Given the description of an element on the screen output the (x, y) to click on. 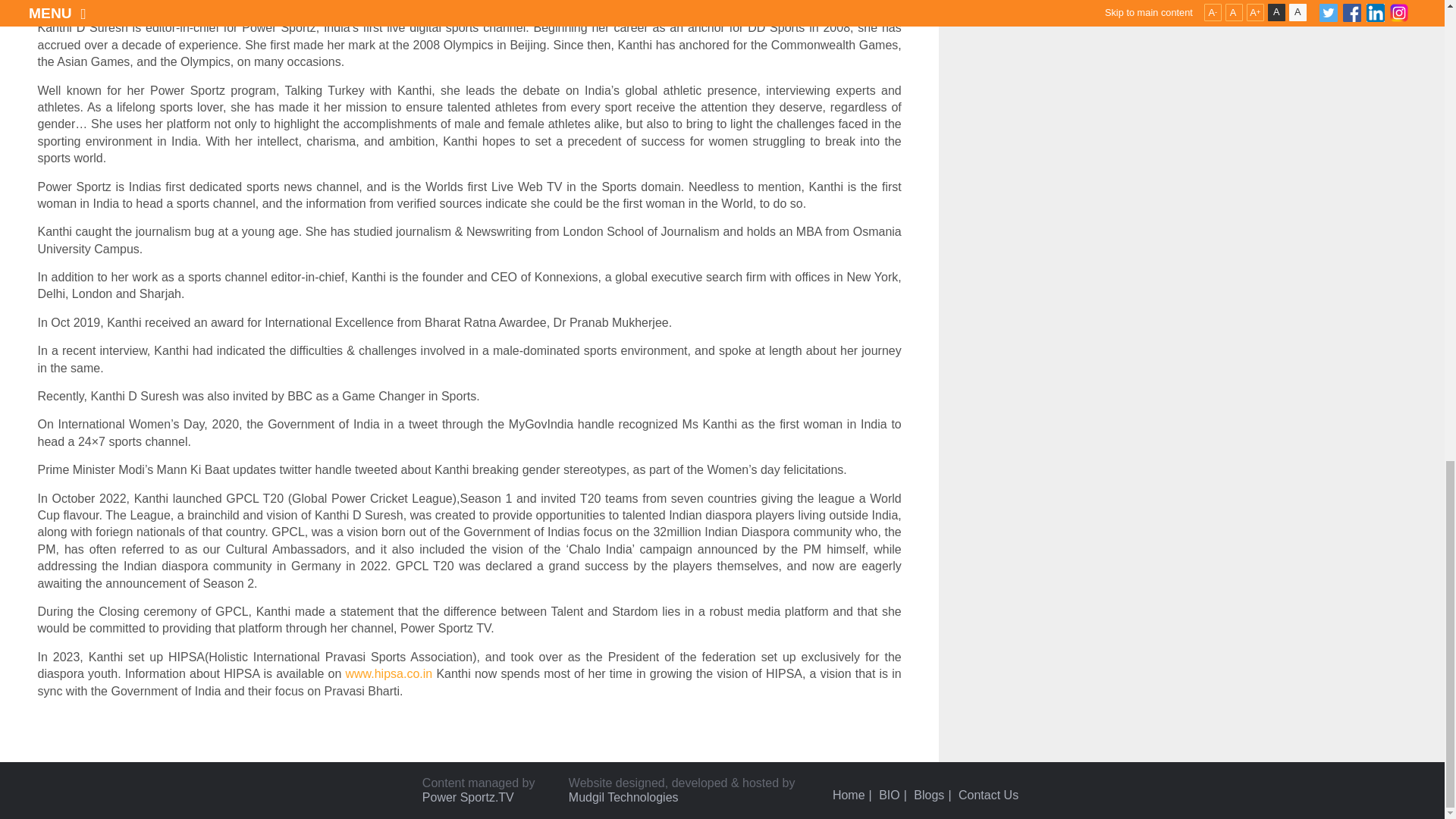
BIO (889, 795)
Website Policies (889, 795)
www.hipsa.co.in (390, 673)
Home (848, 795)
Contact Us (987, 795)
Blogs (928, 795)
Mudgil Technology (623, 797)
Mudgil Technologies (623, 797)
